Given the description of an element on the screen output the (x, y) to click on. 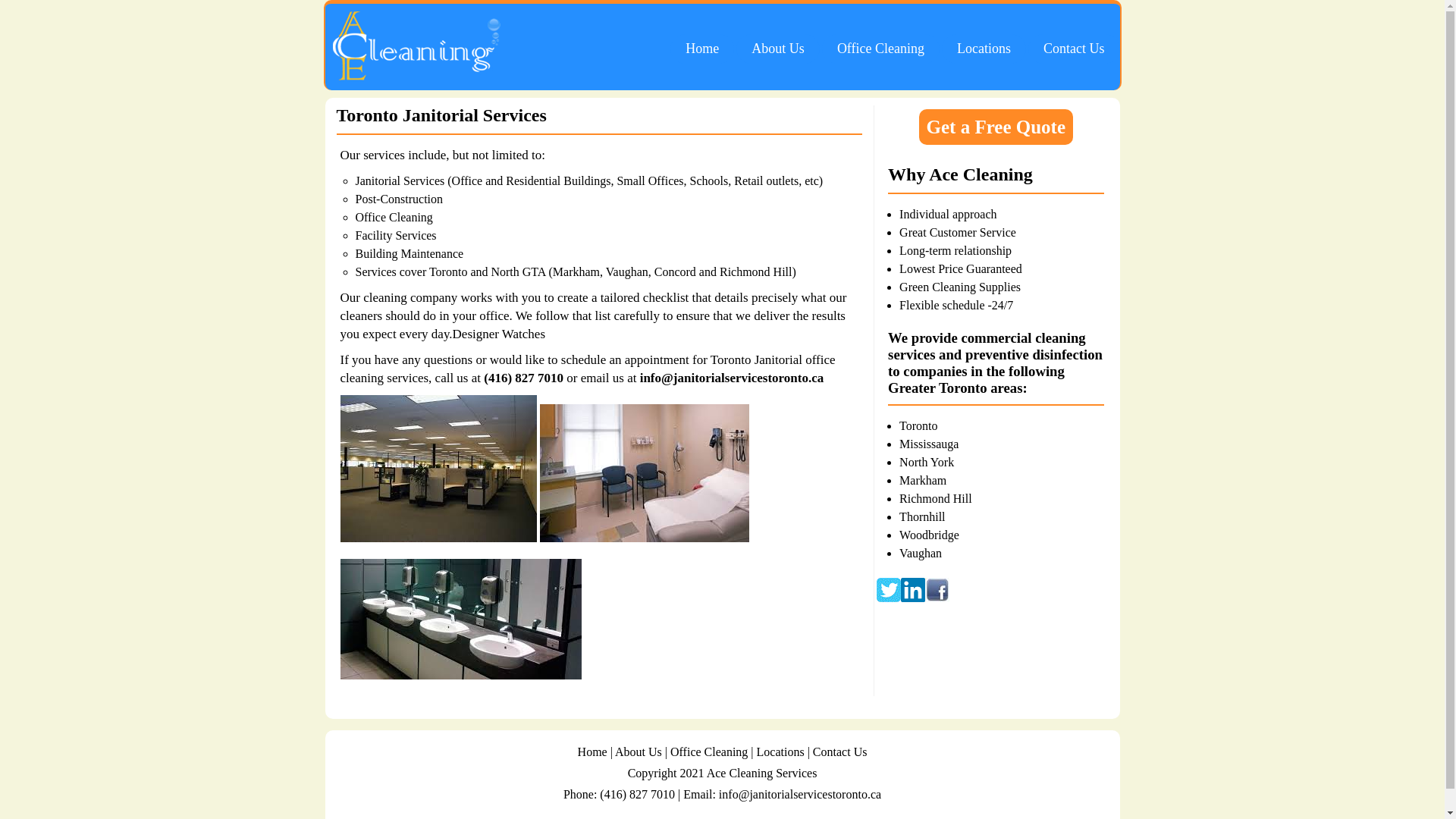
Vaughan Element type: text (920, 552)
Toronto Janitorial office Element type: text (772, 359)
Get a Free Quote Element type: text (996, 126)
Home Element type: text (702, 48)
Richmond Hill Element type: text (935, 498)
Contact Us Element type: text (839, 751)
About Us Element type: text (777, 48)
Designer Watches Element type: text (498, 333)
Markham Element type: text (922, 479)
Woodbridge Element type: text (929, 534)
Contact Us Element type: text (1074, 48)
About Us Element type: text (638, 751)
Office Cleaning Element type: text (708, 751)
Home Element type: text (592, 751)
Locations Element type: text (780, 751)
Toronto Element type: text (918, 425)
Office Cleaning Element type: text (880, 48)
Mississauga Element type: text (928, 443)
Thornhill Element type: text (921, 516)
North York Element type: text (926, 461)
Locations Element type: text (983, 48)
